Given the description of an element on the screen output the (x, y) to click on. 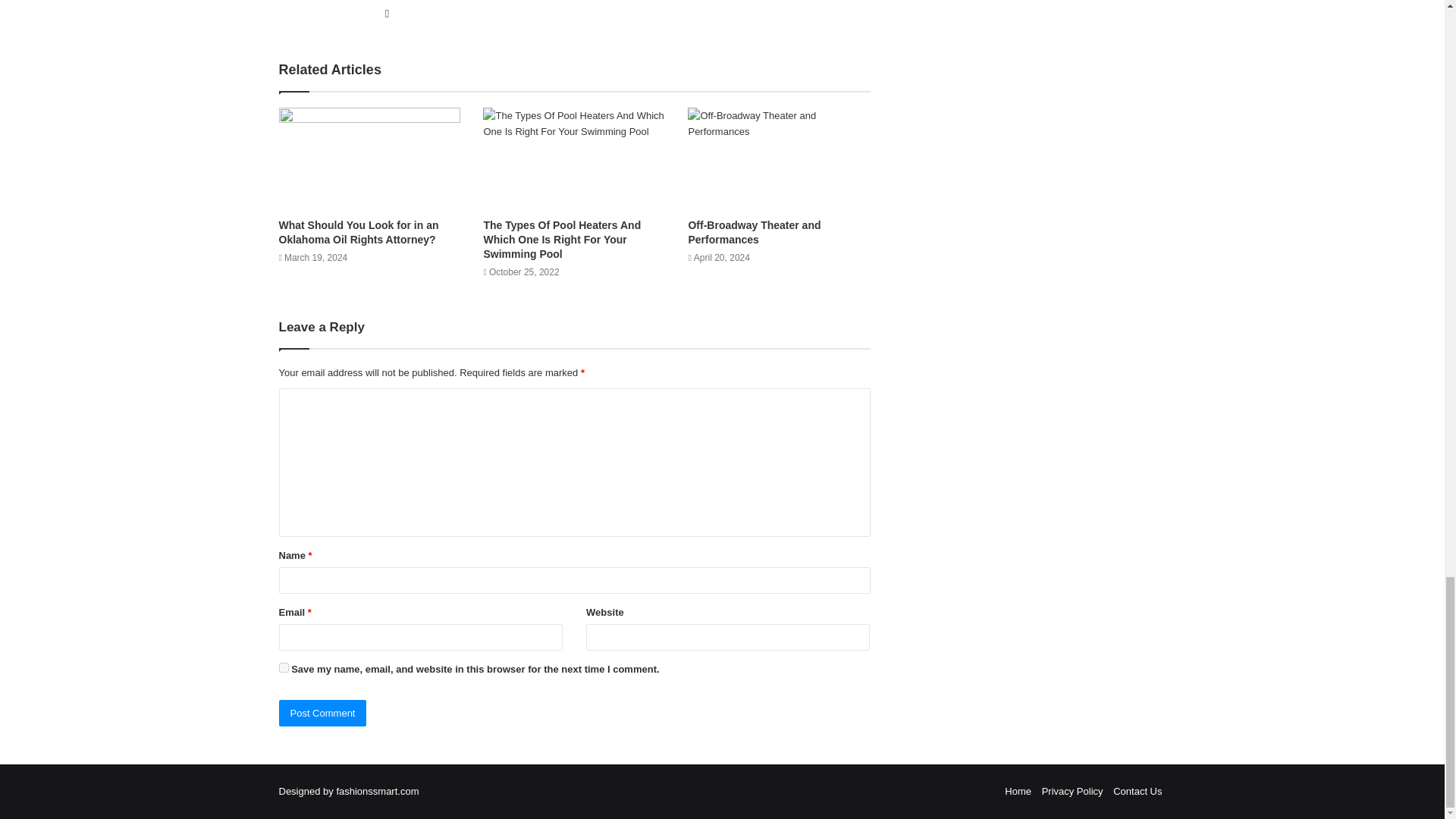
yes (283, 667)
Website (386, 13)
Post Comment (322, 713)
What Should You Look for in an Oklahoma Oil Rights Attorney? (359, 232)
